Given the description of an element on the screen output the (x, y) to click on. 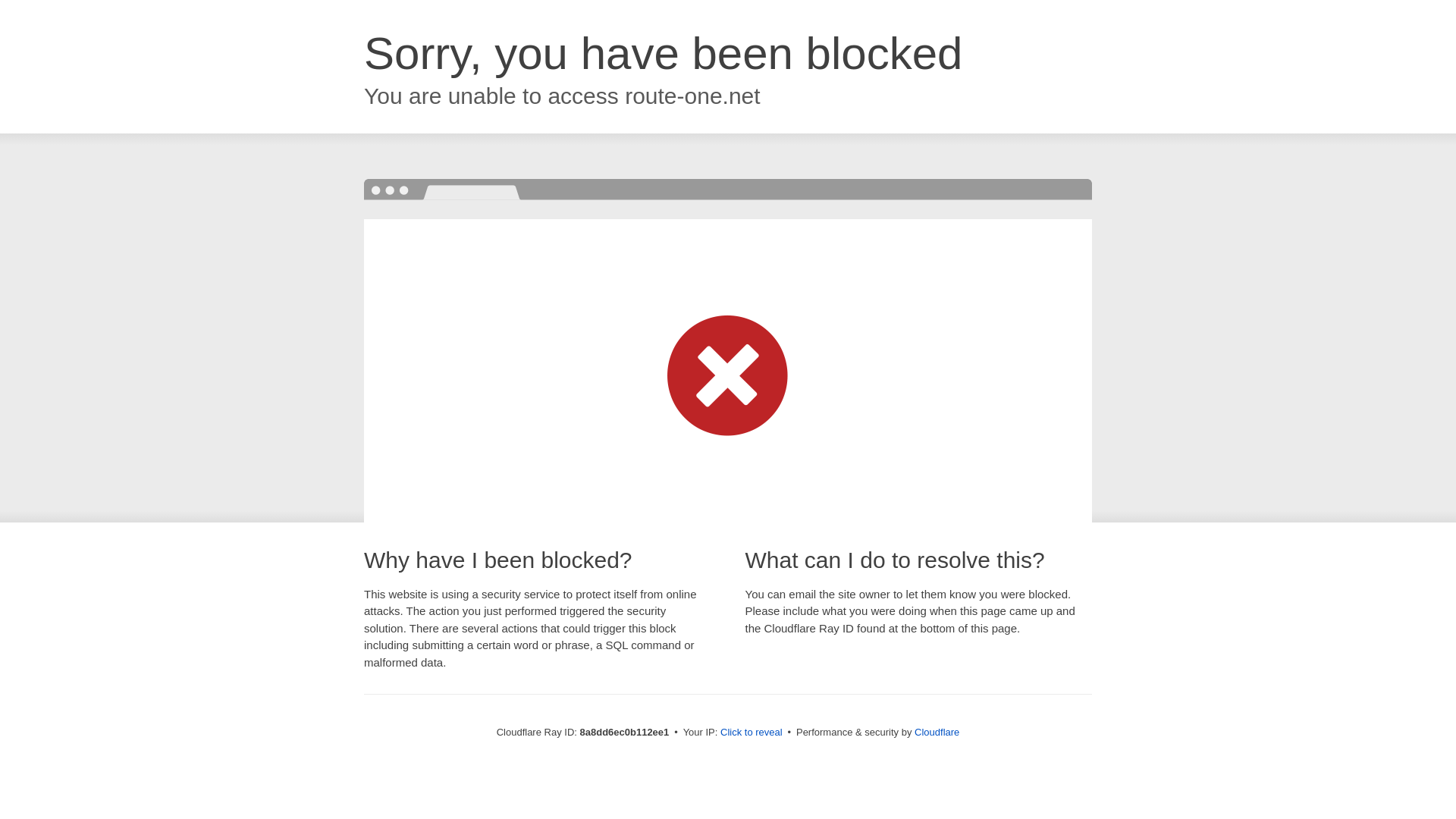
Cloudflare (936, 731)
Click to reveal (751, 732)
